Given the description of an element on the screen output the (x, y) to click on. 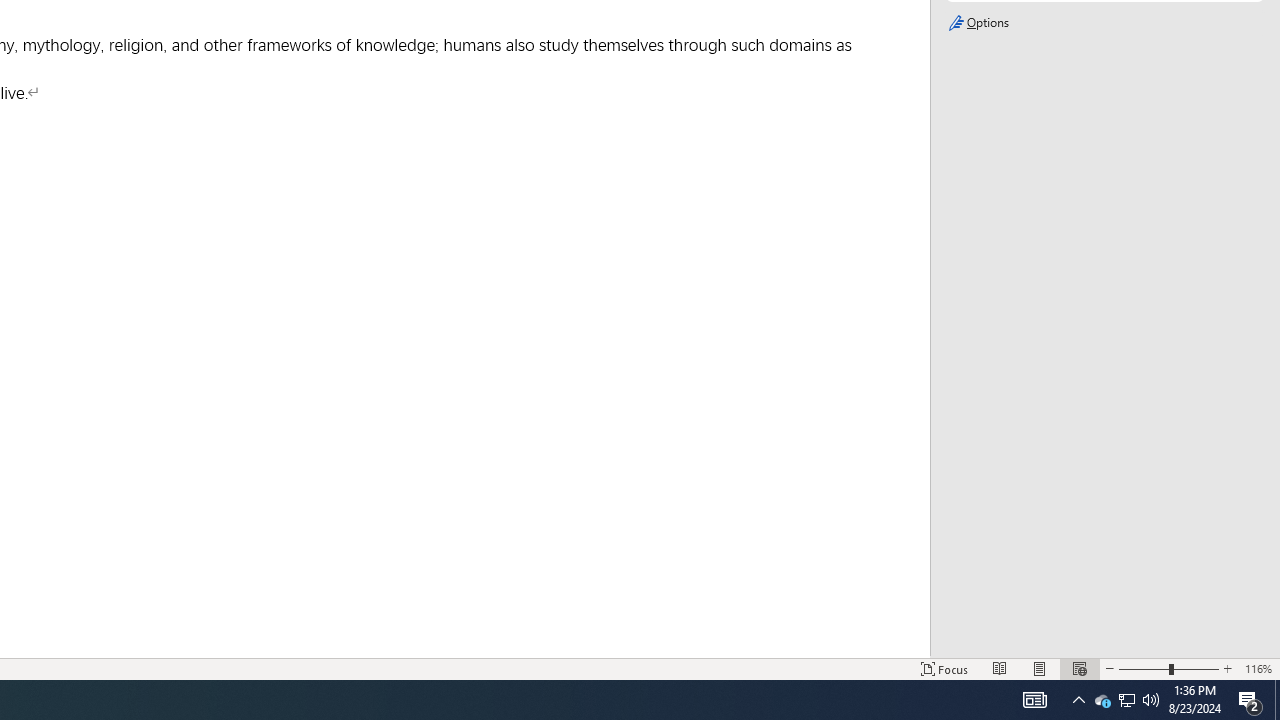
Zoom In (1227, 668)
Zoom (1168, 668)
Web Layout (1079, 668)
Focus  (944, 668)
Zoom 116% (1258, 668)
Zoom Out (1143, 668)
Options (1104, 23)
